Given the description of an element on the screen output the (x, y) to click on. 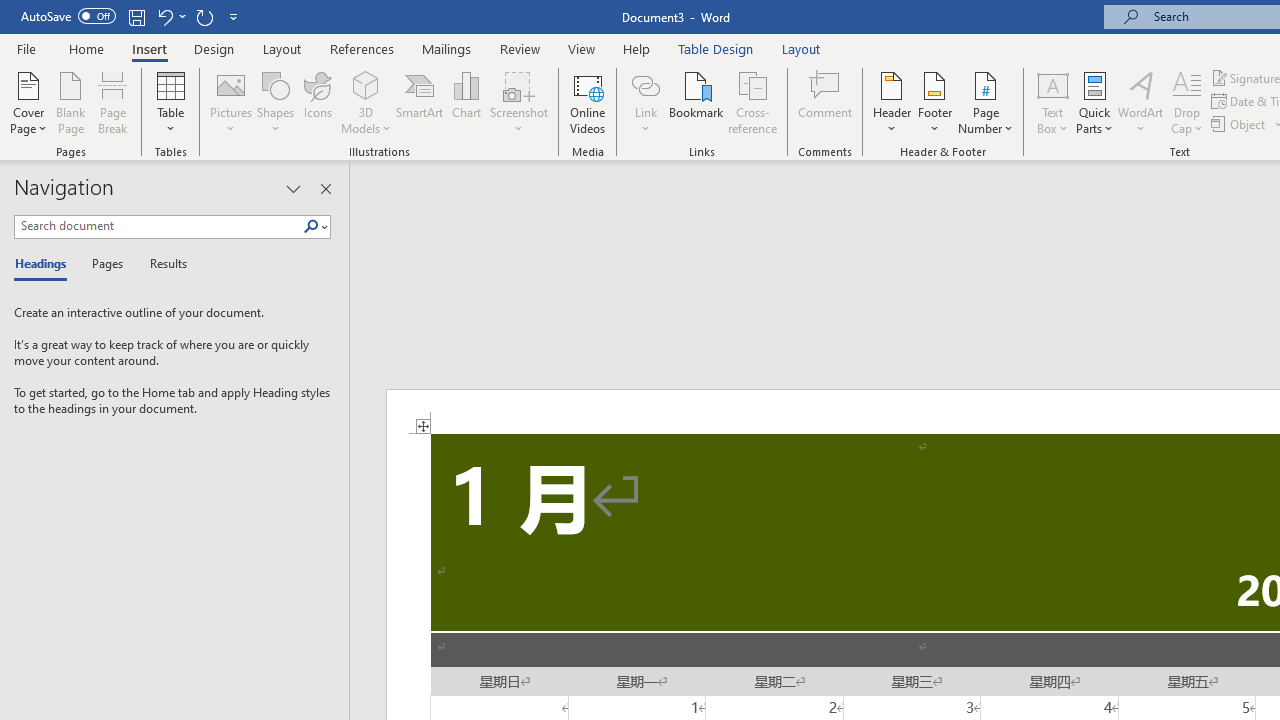
Shapes (275, 102)
Comment (825, 102)
Cover Page (28, 102)
Results (161, 264)
Online Videos... (588, 102)
Undo Increase Indent (164, 15)
Link (645, 102)
Table Design (715, 48)
3D Models (366, 102)
Page Break (113, 102)
Quick Parts (1094, 102)
Cross-reference... (752, 102)
